Given the description of an element on the screen output the (x, y) to click on. 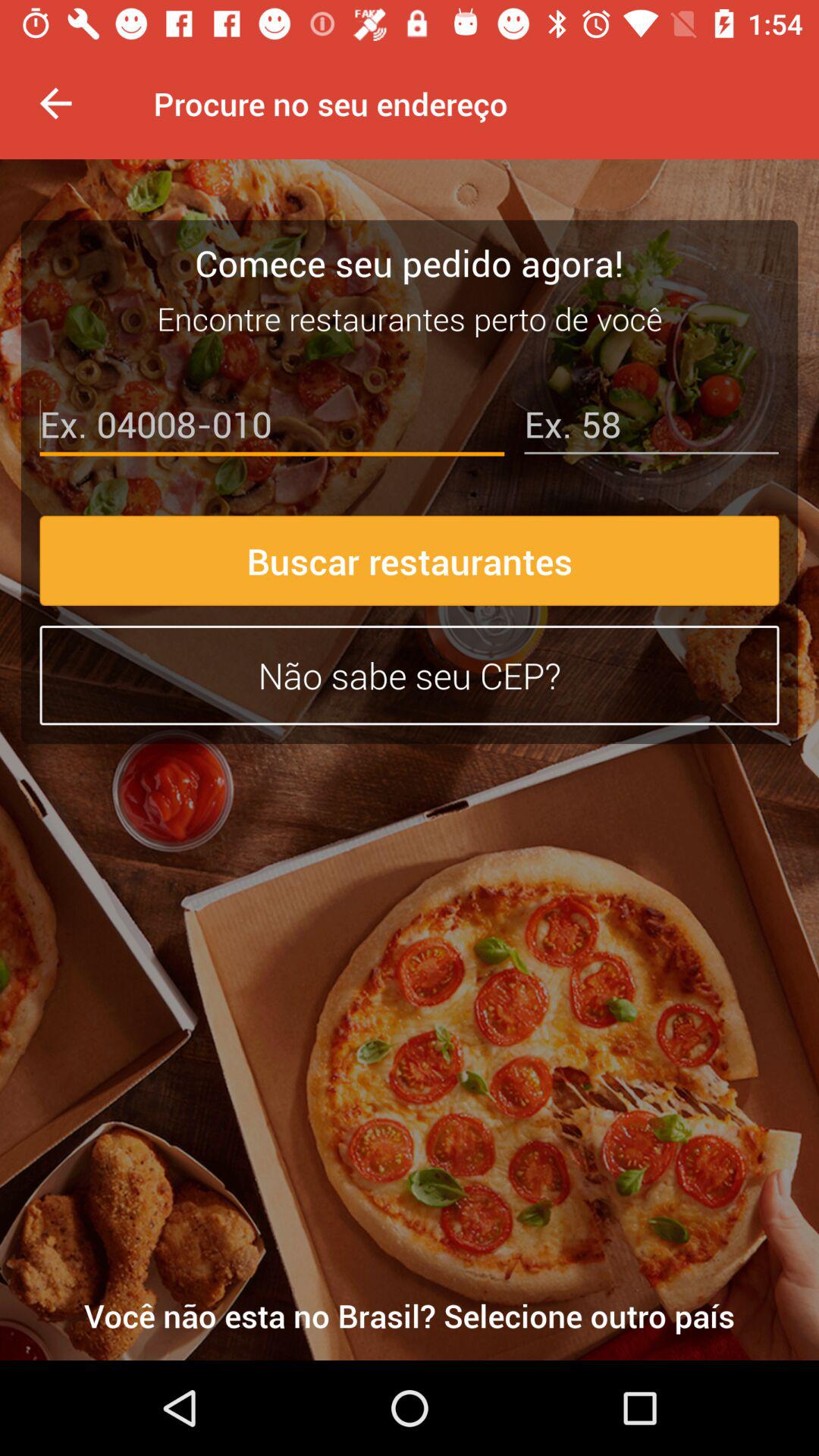
clicar para buscar restaurante (271, 427)
